Given the description of an element on the screen output the (x, y) to click on. 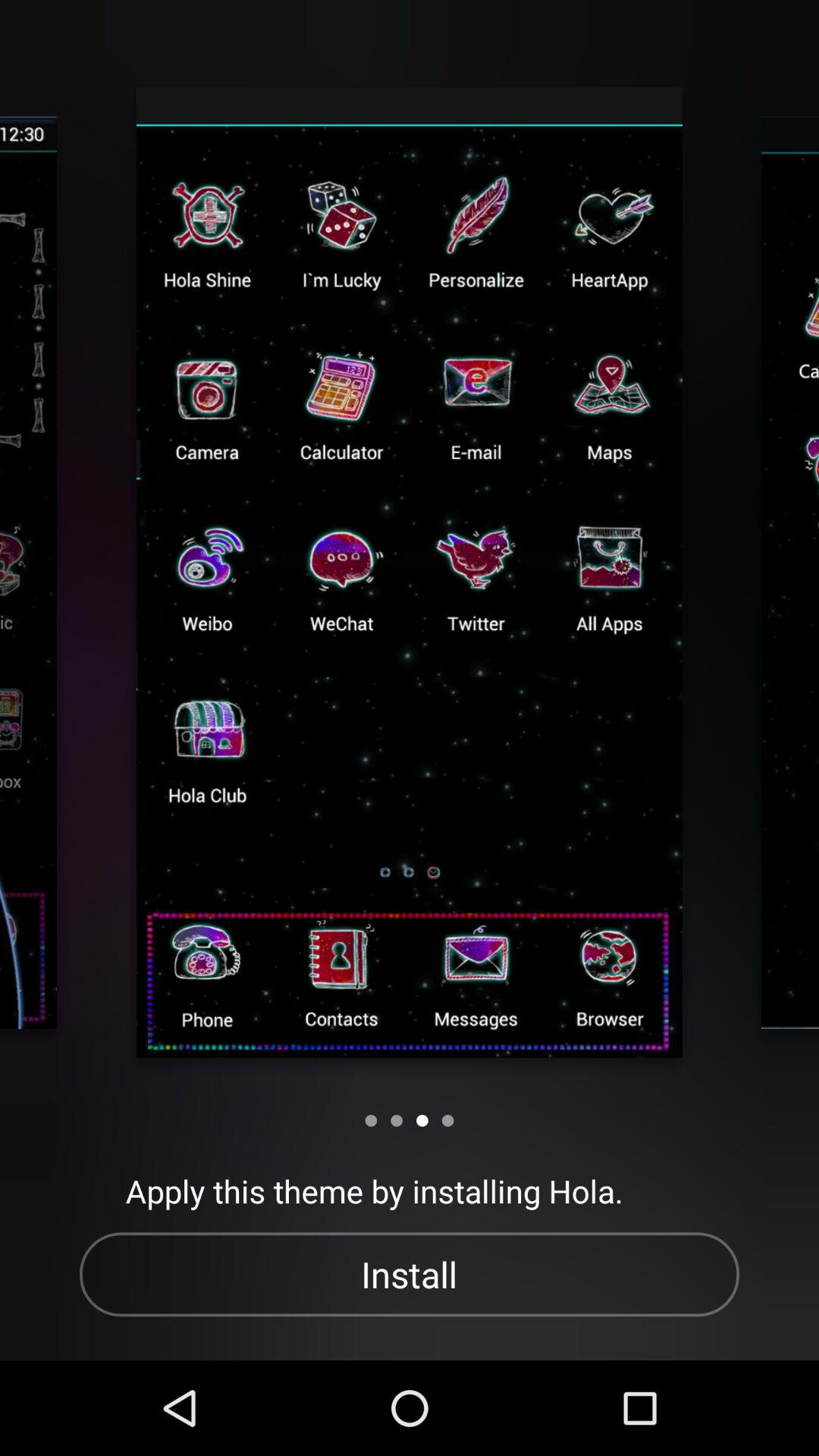
click the icon above apply this theme icon (370, 1120)
